Given the description of an element on the screen output the (x, y) to click on. 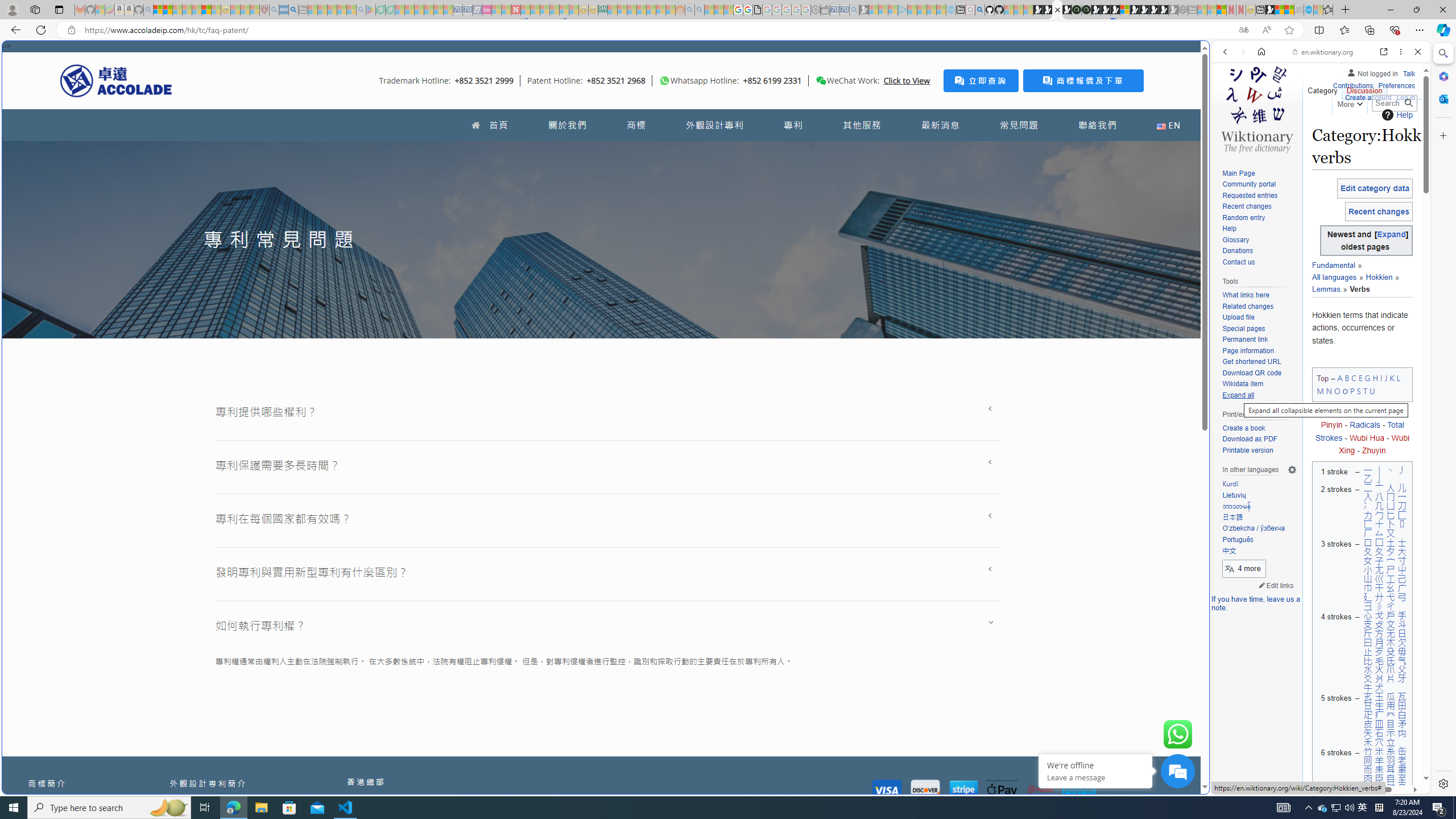
Printable version (1259, 450)
Special pages (1259, 328)
Glossary (1259, 240)
Contributions (1352, 84)
EN (1168, 124)
Community portal (1259, 184)
